Given the description of an element on the screen output the (x, y) to click on. 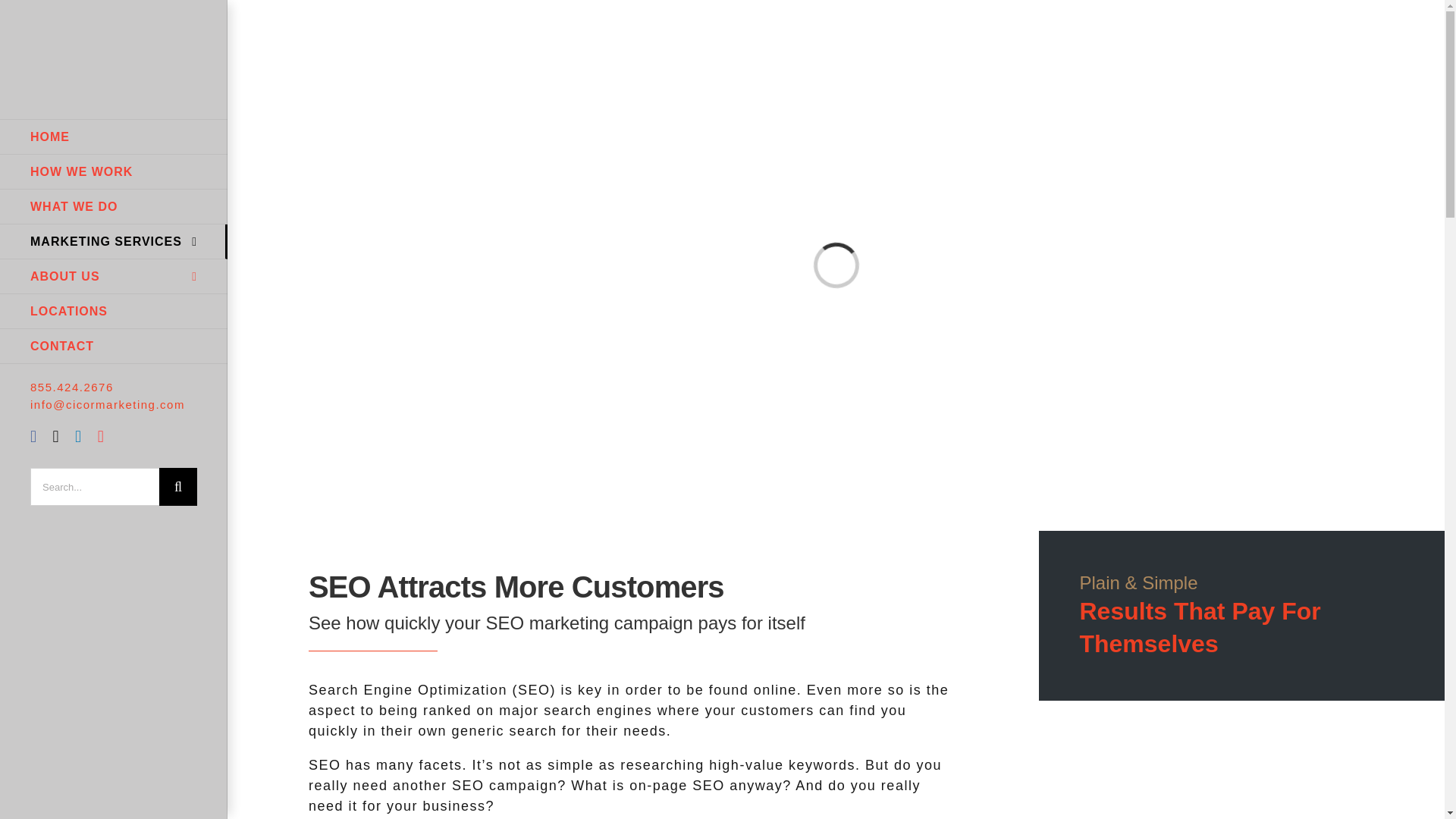
ABOUT US (113, 276)
CONTACT (113, 346)
HOW WE WORK (113, 171)
855.424.2676 (71, 386)
MARKETING SERVICES (113, 241)
WHAT WE DO (113, 206)
HOME (113, 136)
LOCATIONS (113, 311)
